Given the description of an element on the screen output the (x, y) to click on. 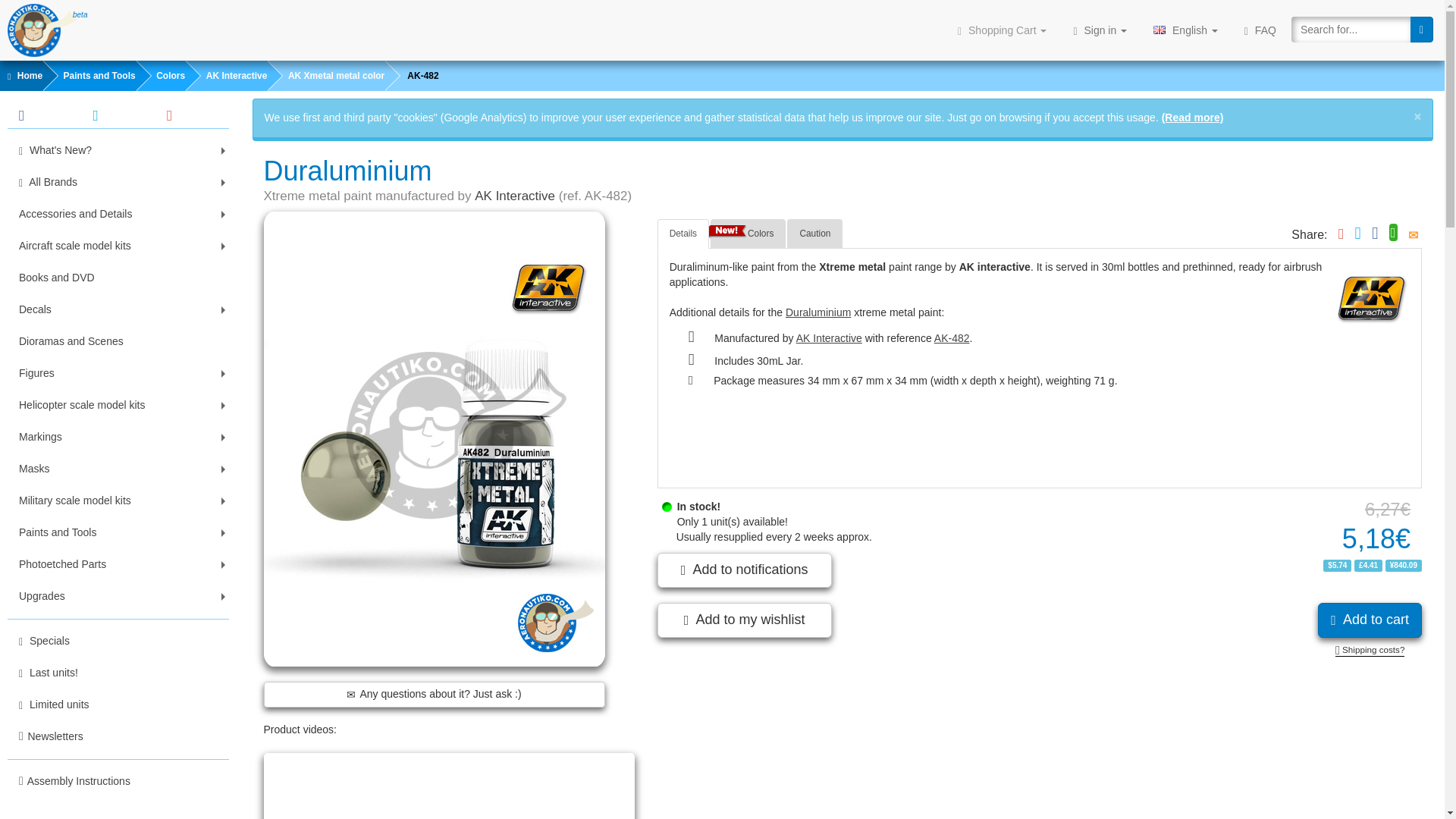
Details (683, 233)
Colors (160, 75)
Paints and Tools (88, 75)
Caution (815, 233)
AK-482 (951, 337)
AK Interactive (514, 196)
Colors (748, 233)
AK Interactive (225, 75)
Home (21, 75)
AK-482 (411, 75)
